Given the description of an element on the screen output the (x, y) to click on. 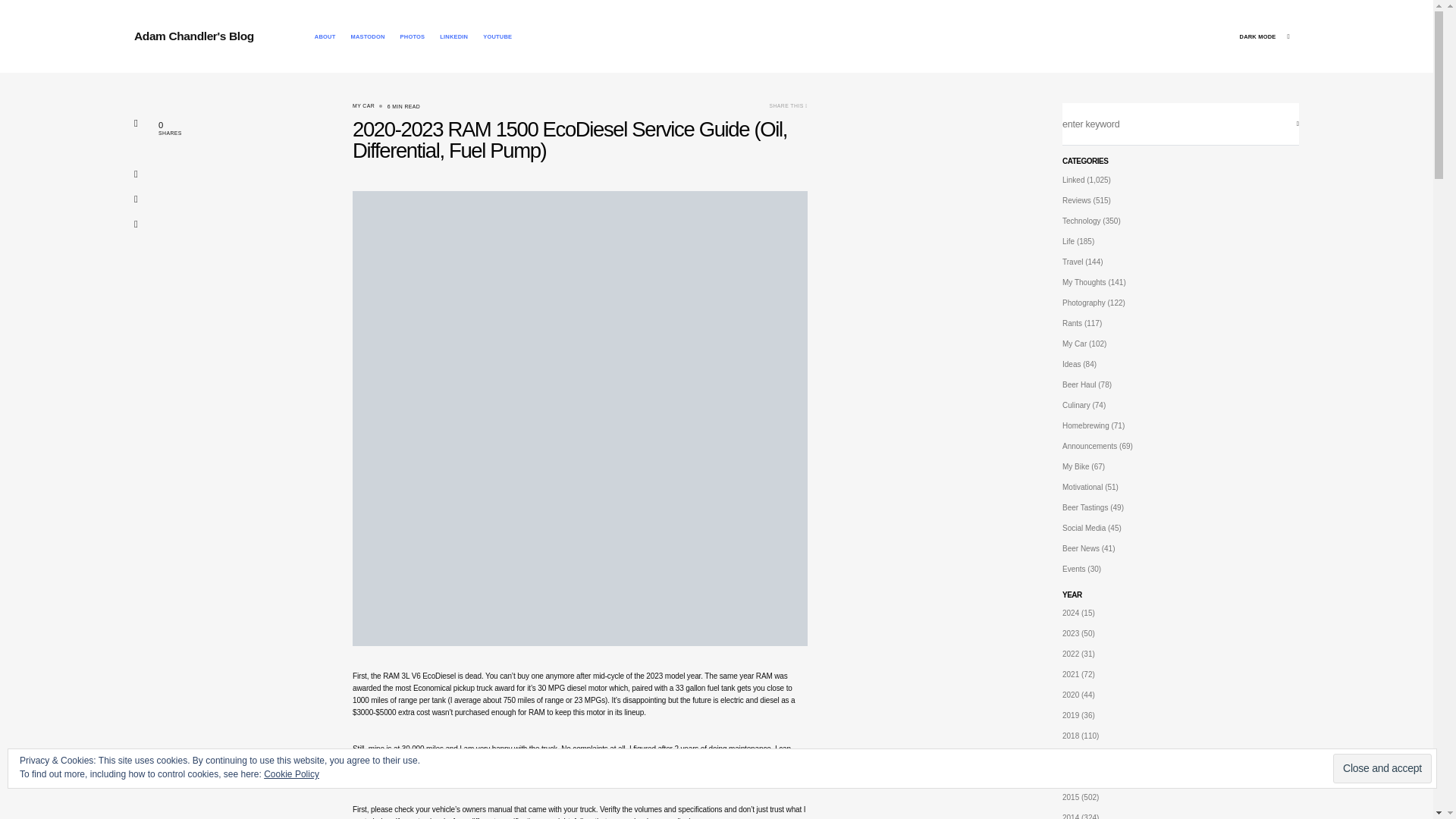
Close and accept (1382, 767)
Adam Chandler's Blog (193, 36)
